Given the description of an element on the screen output the (x, y) to click on. 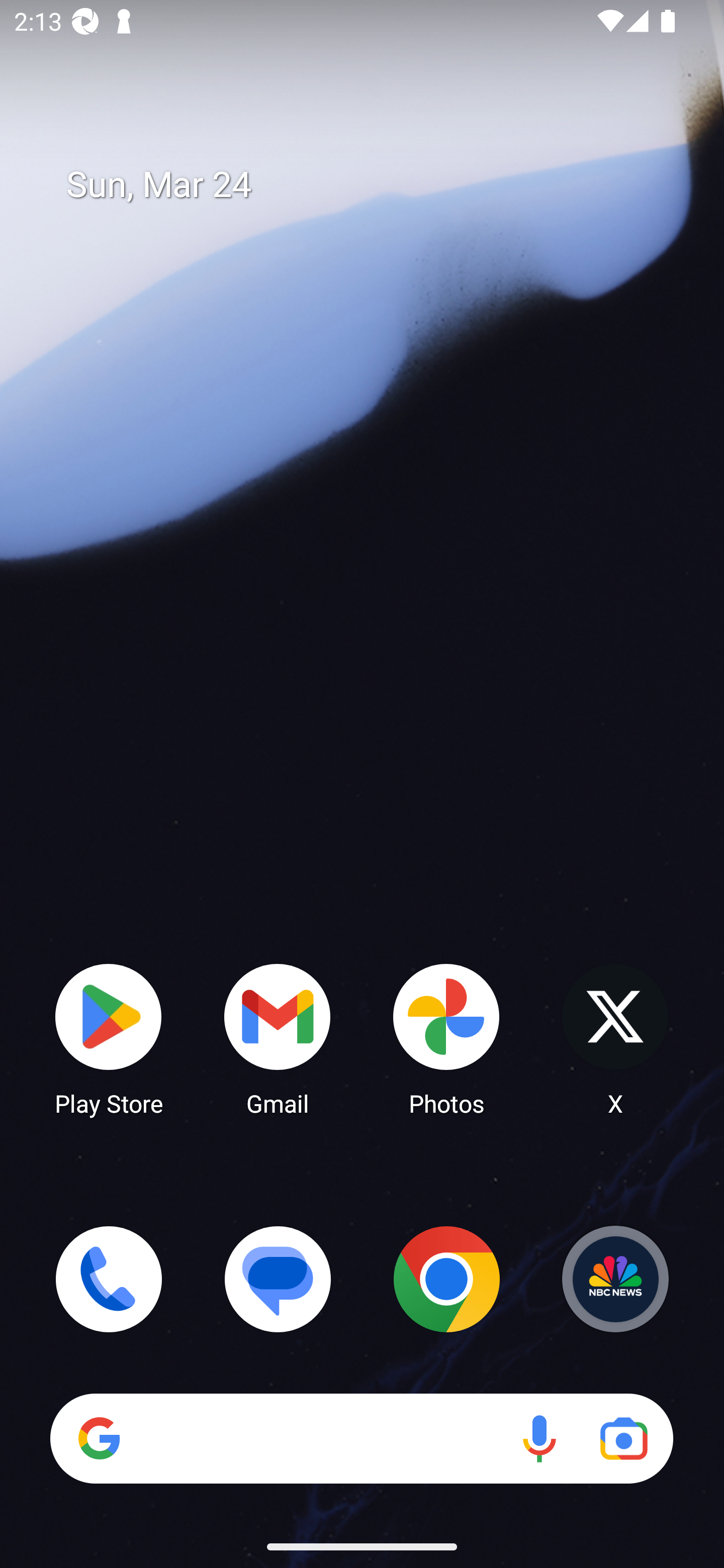
Sun, Mar 24 (375, 184)
Play Store (108, 1038)
Gmail (277, 1038)
Photos (445, 1038)
X (615, 1038)
Phone (108, 1279)
Messages (277, 1279)
Chrome (446, 1279)
NBC NEWS Predicted app: NBC NEWS (615, 1279)
Voice search (539, 1438)
Google Lens (623, 1438)
